Given the description of an element on the screen output the (x, y) to click on. 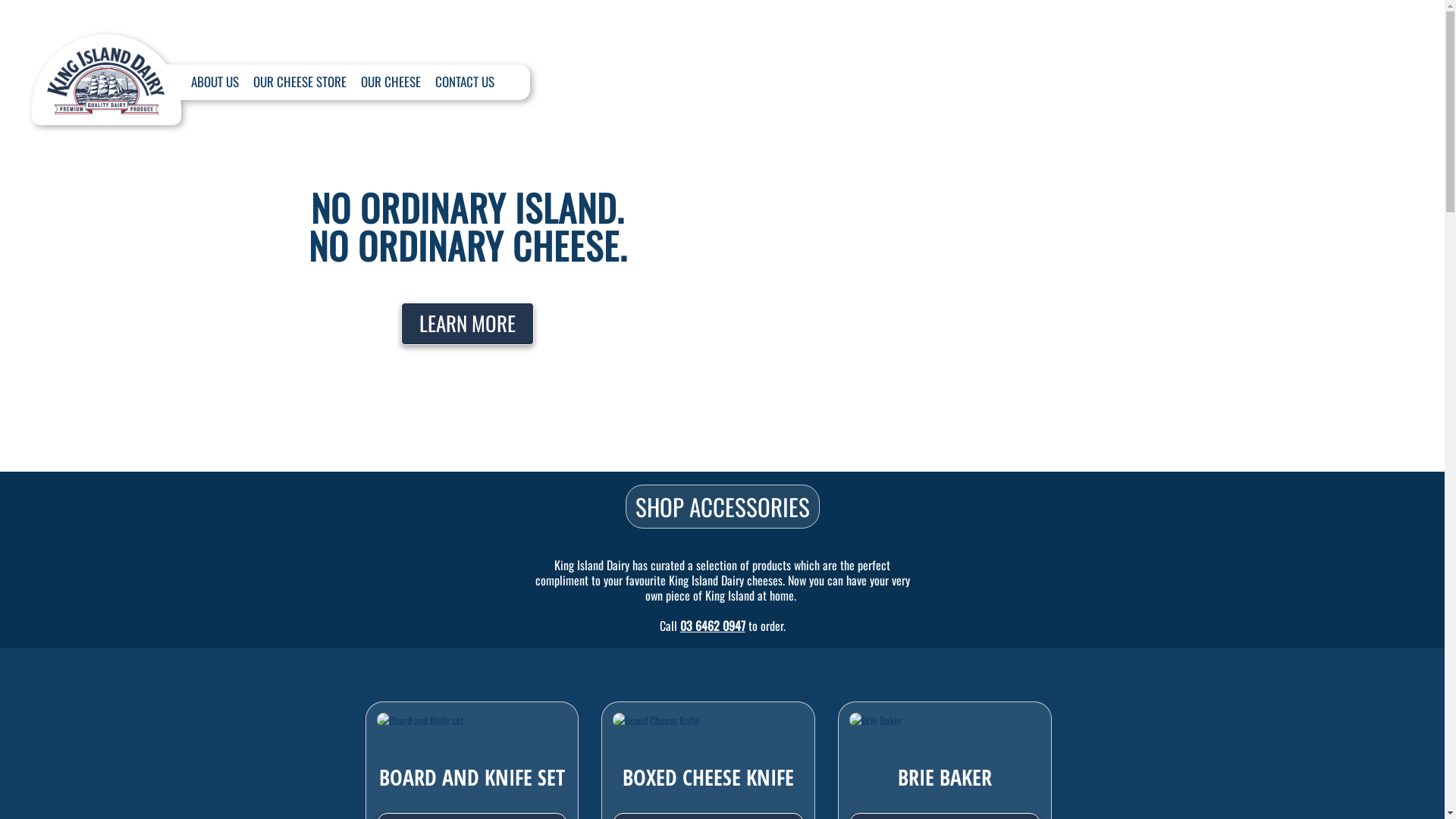
LEARN MORE Element type: text (467, 323)
ABOUT US Element type: text (214, 81)
OUR CHEESE Element type: text (390, 81)
OUR CHEESE STORE Element type: text (299, 81)
CONTACT US Element type: text (464, 81)
03 6462 0947 Element type: text (711, 625)
Home Element type: hover (106, 71)
